Given the description of an element on the screen output the (x, y) to click on. 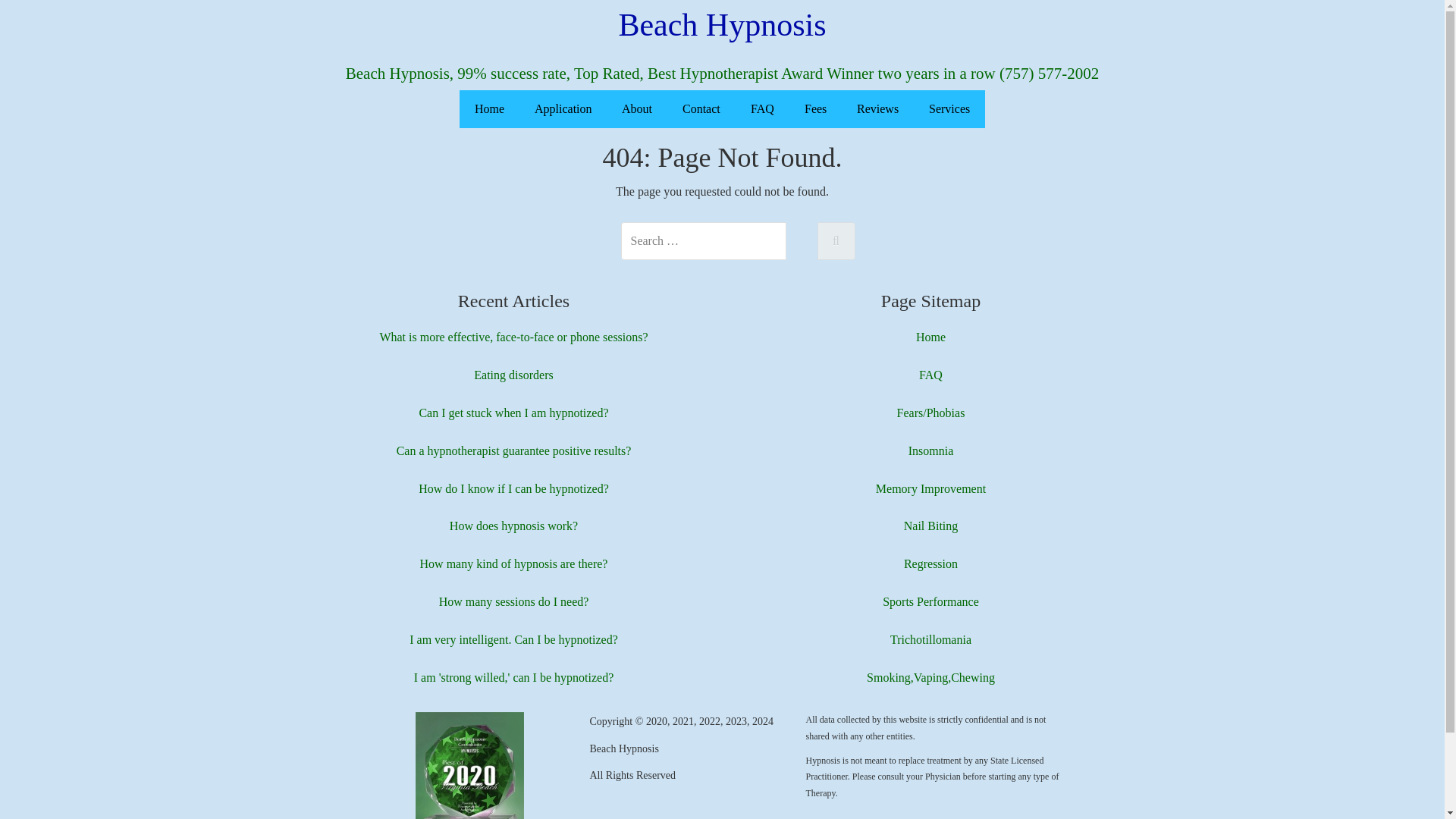
Smoking,Vaping,Chewing (930, 676)
How does hypnosis work? (513, 525)
What is more effective, face-to-face or phone sessions? (512, 336)
FAQ (930, 374)
Eating disorders (513, 374)
I am very intelligent. Can I be hypnotized? (513, 639)
Services (949, 108)
Can a hypnotherapist guarantee positive results? (513, 450)
Regression (931, 563)
Memory Improvement (930, 488)
Application (563, 108)
Contact (700, 108)
Home (929, 336)
Fees (815, 108)
I am 'strong willed,' can I be hypnotized? (512, 676)
